Given the description of an element on the screen output the (x, y) to click on. 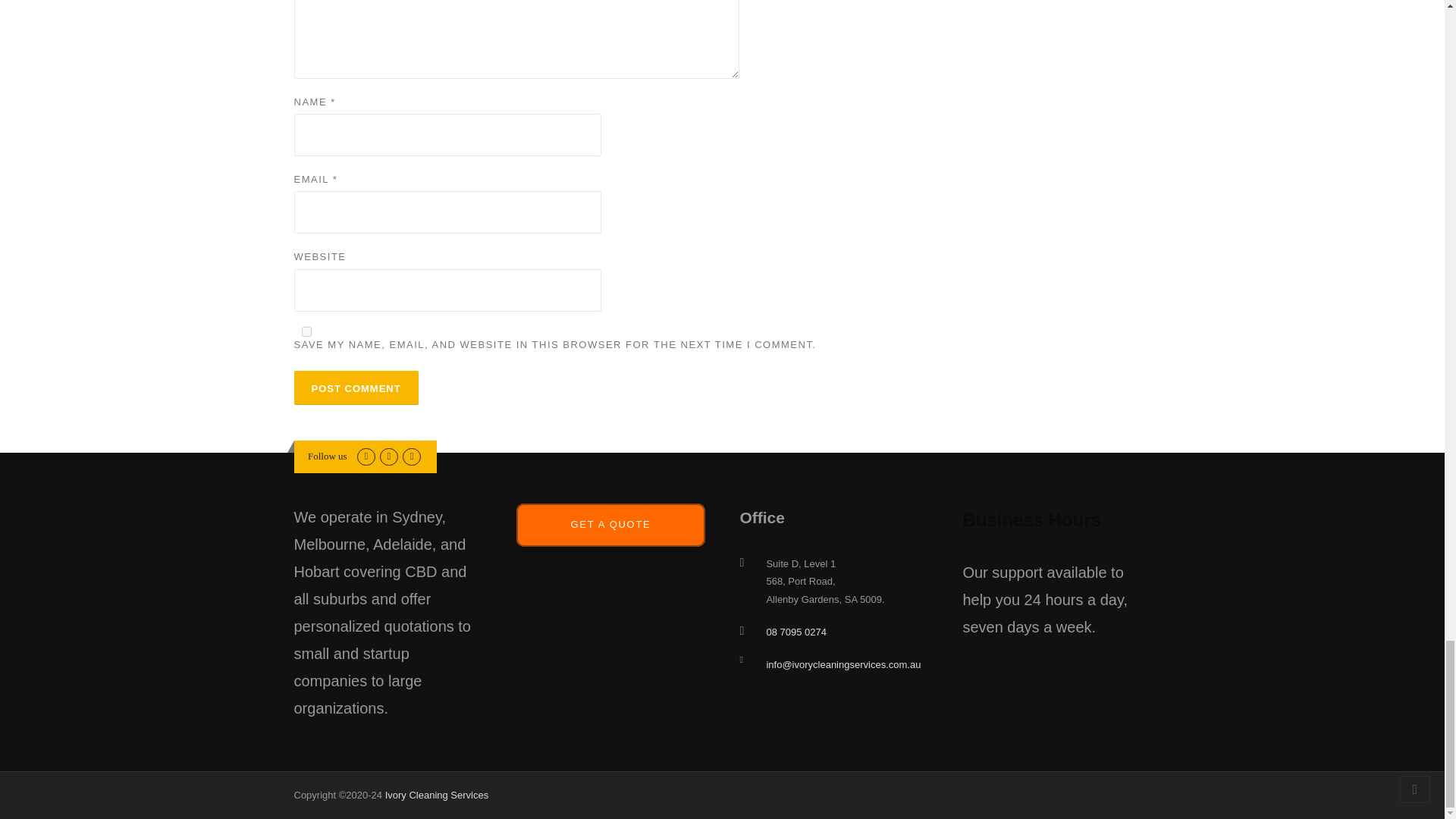
Post Comment (356, 387)
yes (306, 331)
